Given the description of an element on the screen output the (x, y) to click on. 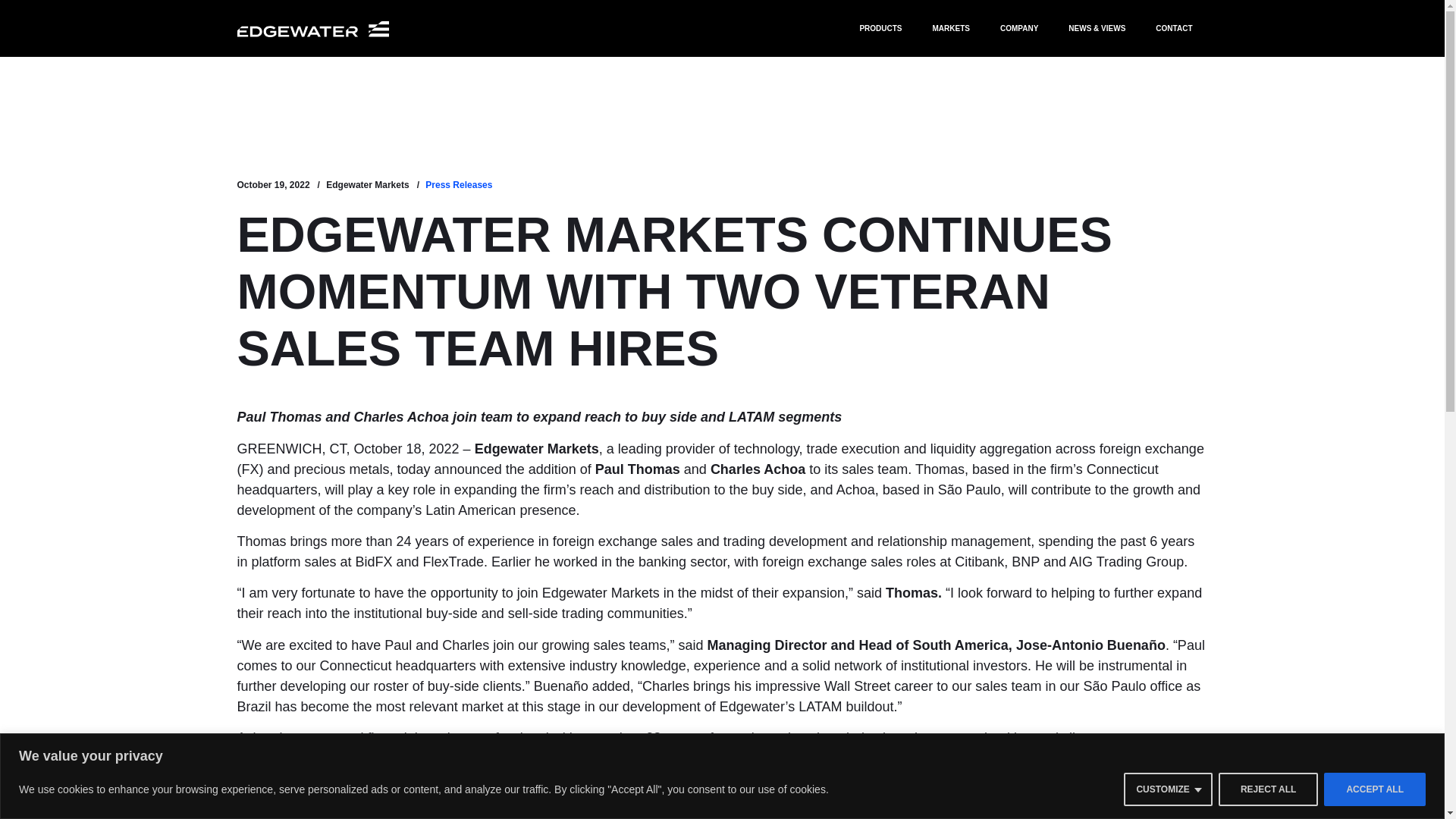
ACCEPT ALL (1374, 788)
CONTACT (1173, 27)
COMPANY (1018, 27)
REJECT ALL (1268, 788)
MARKETS (951, 27)
PRODUCTS (880, 27)
CUSTOMIZE (1167, 788)
